Given the description of an element on the screen output the (x, y) to click on. 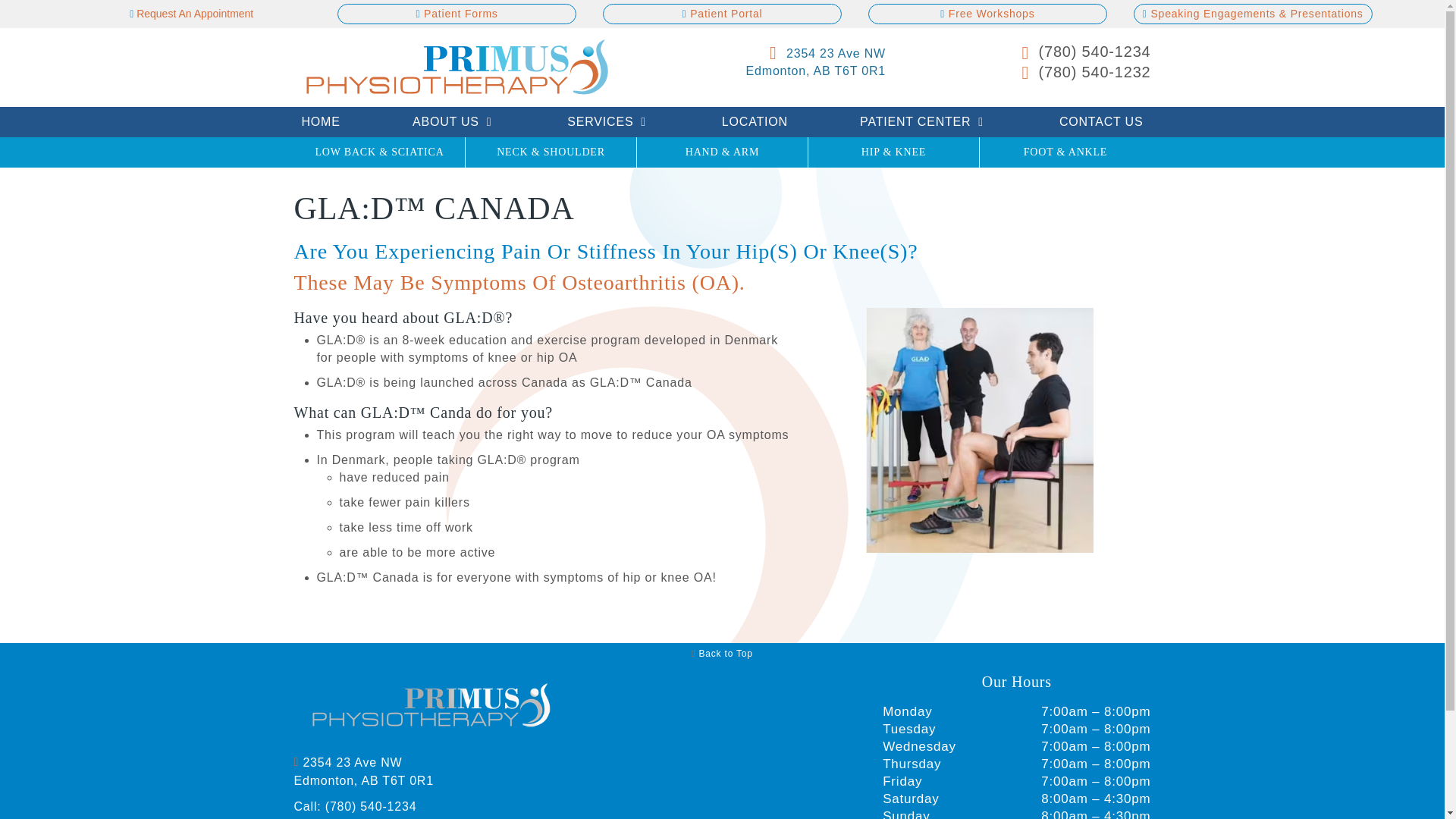
Back to Top (722, 653)
ABOUT US (453, 122)
PATIENT CENTER (922, 122)
HOME (766, 61)
CONTACT US (320, 122)
Free Workshops (1101, 122)
SERVICES (986, 14)
Free Workshops (607, 122)
Patient Portal (986, 14)
